Given the description of an element on the screen output the (x, y) to click on. 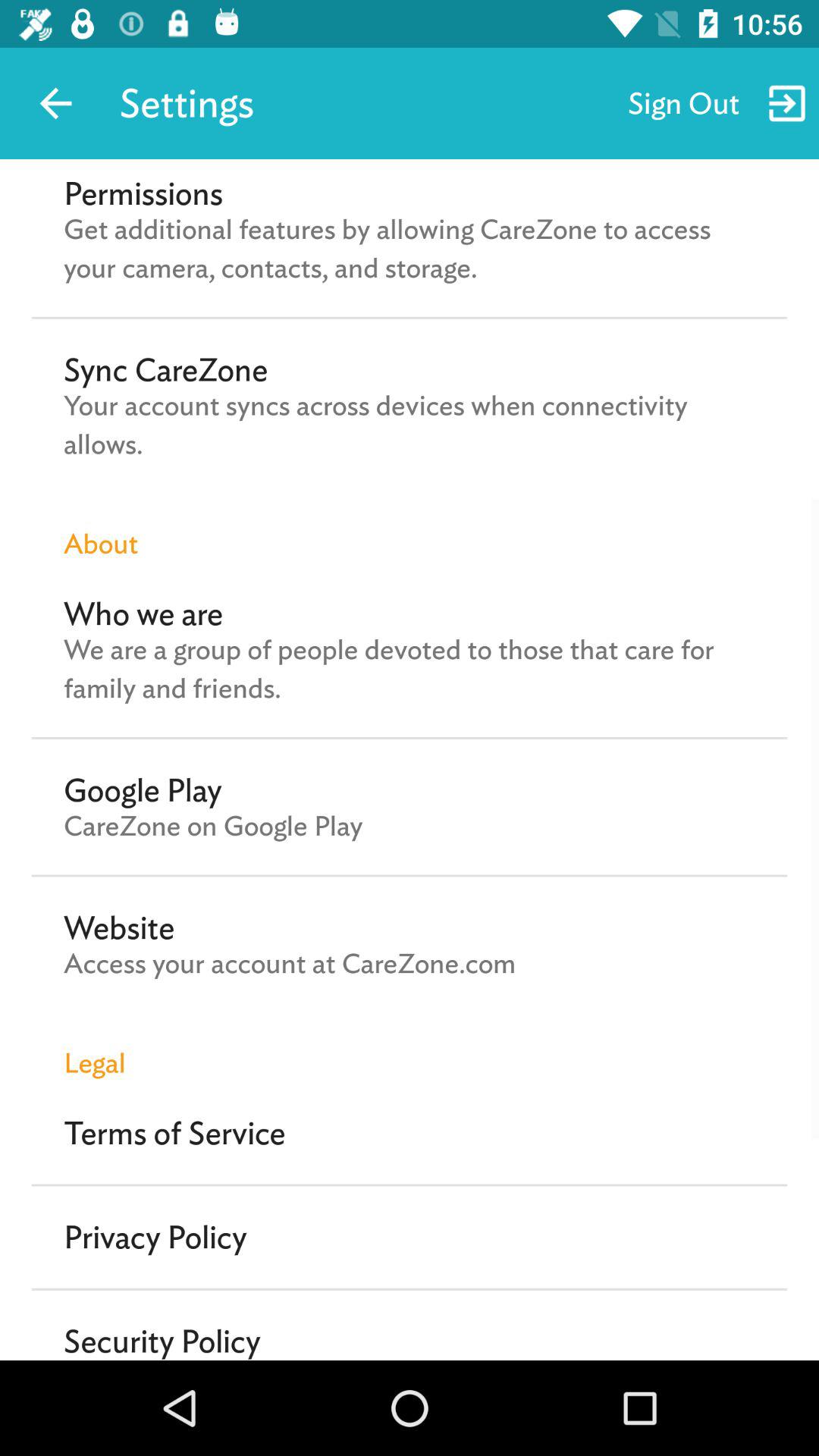
scroll to the privacy policy (154, 1237)
